Given the description of an element on the screen output the (x, y) to click on. 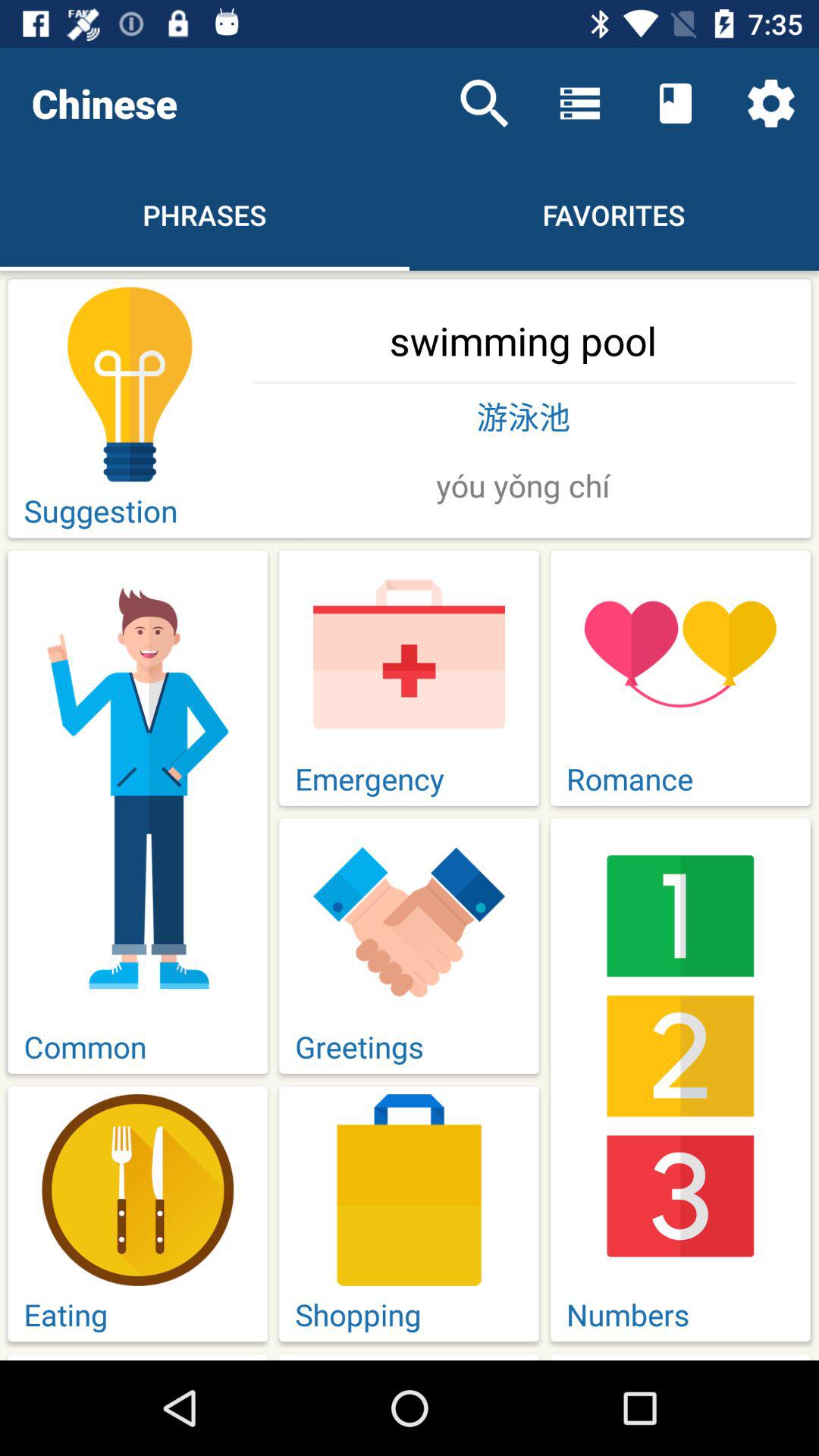
turn on item to the right of chinese icon (484, 103)
